Given the description of an element on the screen output the (x, y) to click on. 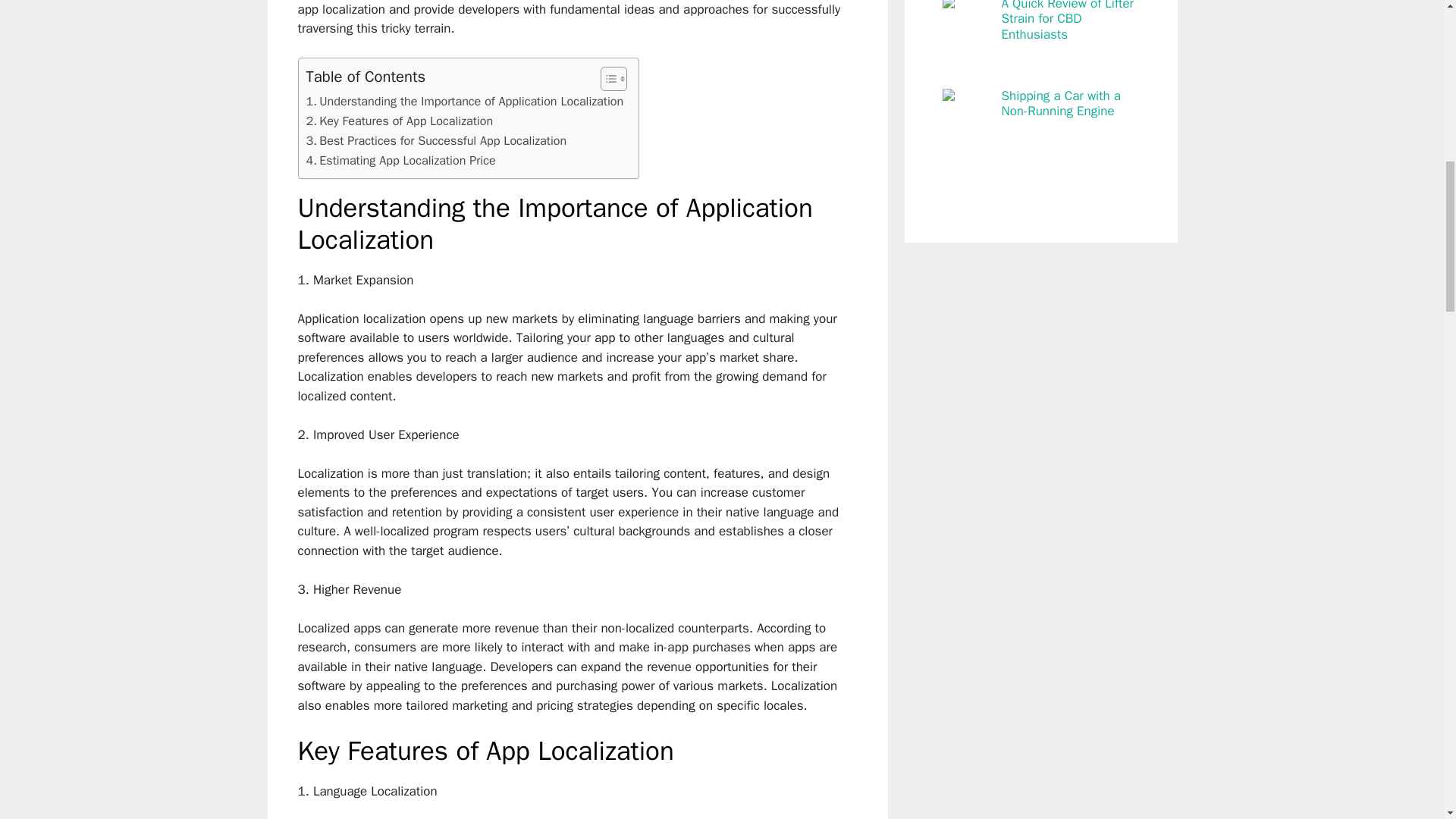
Key Features of App Localization (399, 121)
Understanding the Importance of Application Localization (464, 101)
Estimating App Localization Price (400, 160)
Best Practices for Successful App Localization (436, 140)
